Given the description of an element on the screen output the (x, y) to click on. 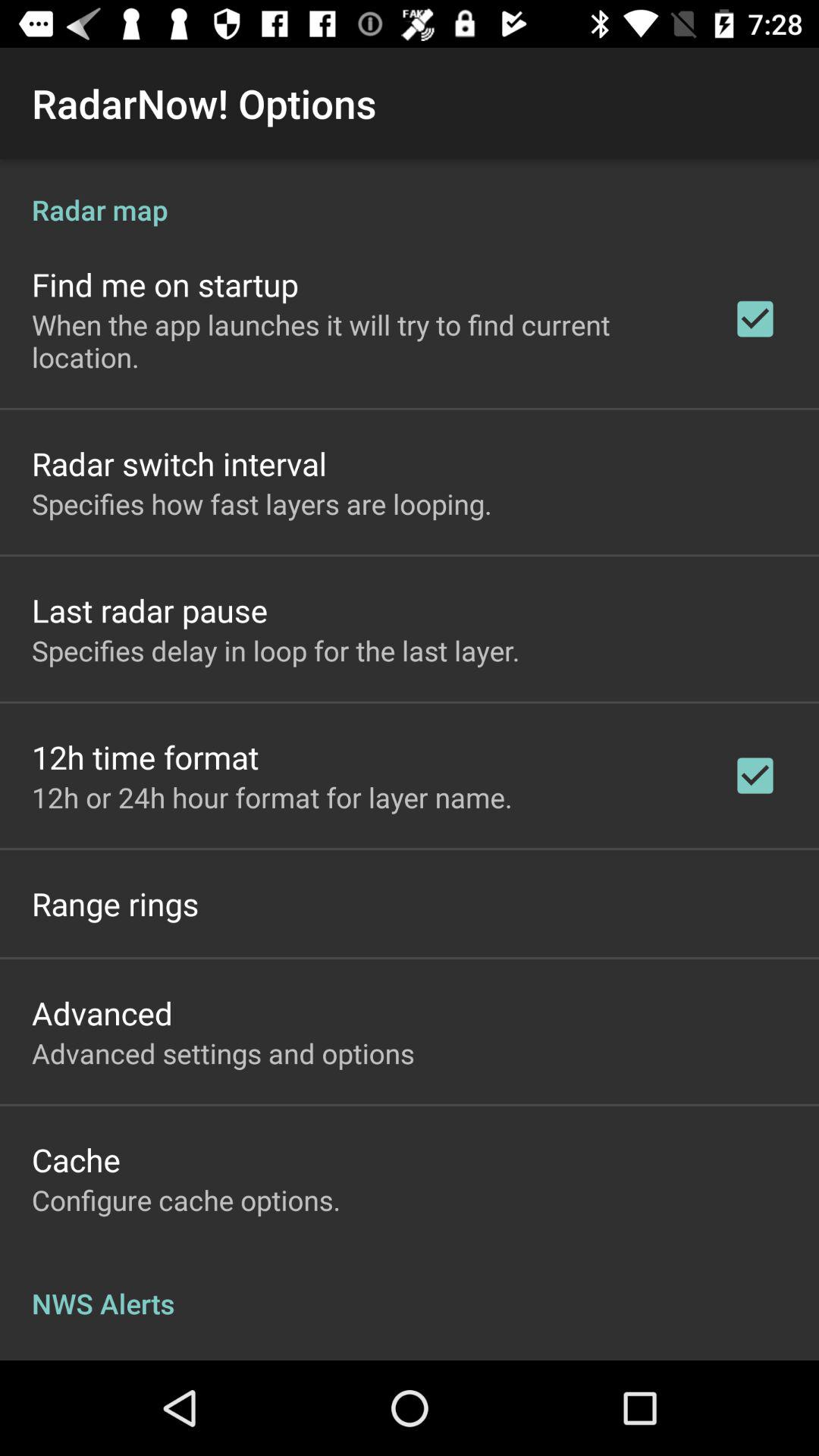
tap specifies delay in app (275, 650)
